Given the description of an element on the screen output the (x, y) to click on. 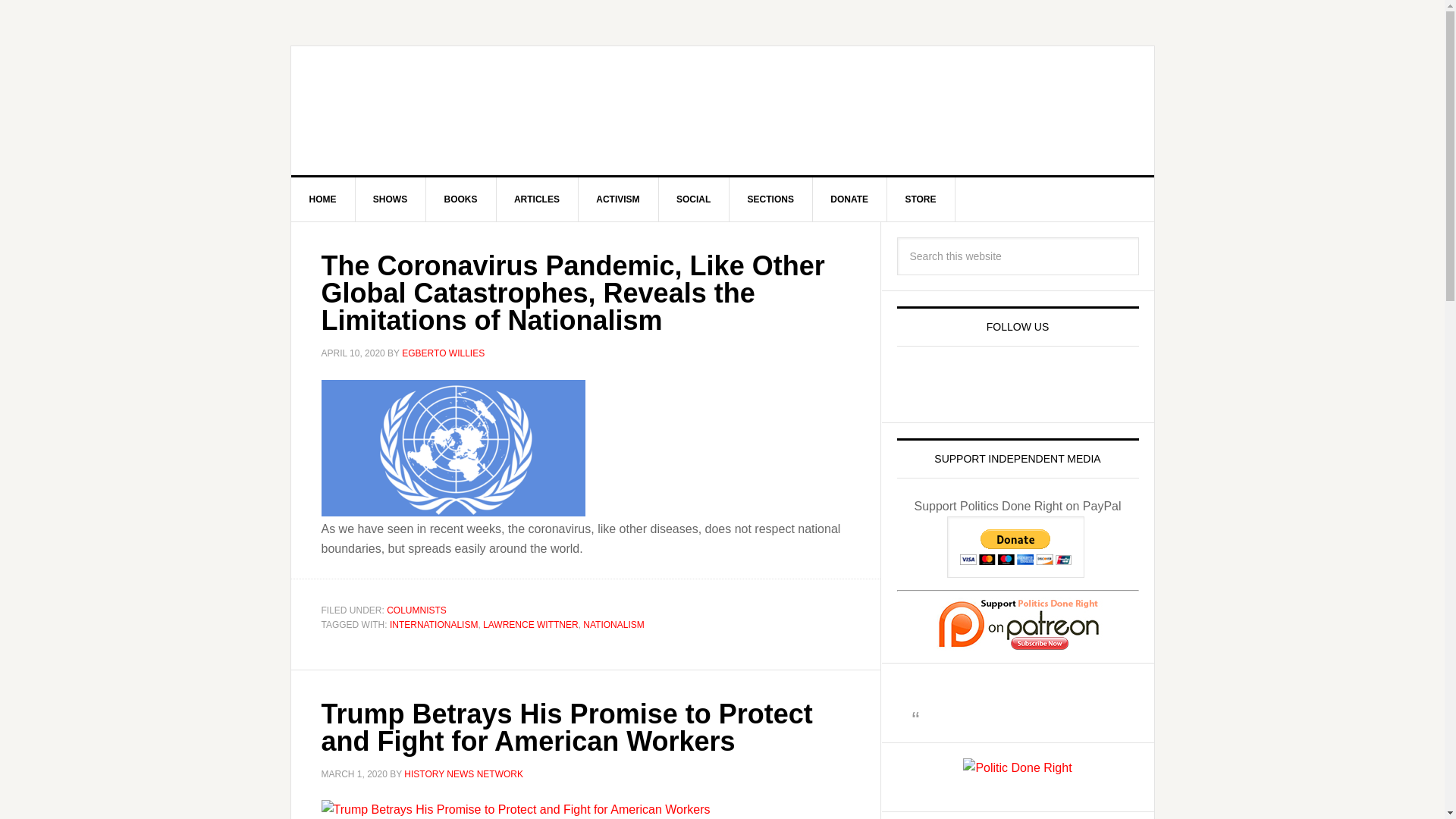
HOME (323, 199)
BOOKS (461, 199)
SHOWS (390, 199)
ACTIVISM (618, 199)
ARTICLES (537, 199)
PayPal - The safer, easier way to pay online! (1015, 547)
SOCIAL (693, 199)
EGBERTOWILLIES.COM (419, 110)
